Given the description of an element on the screen output the (x, y) to click on. 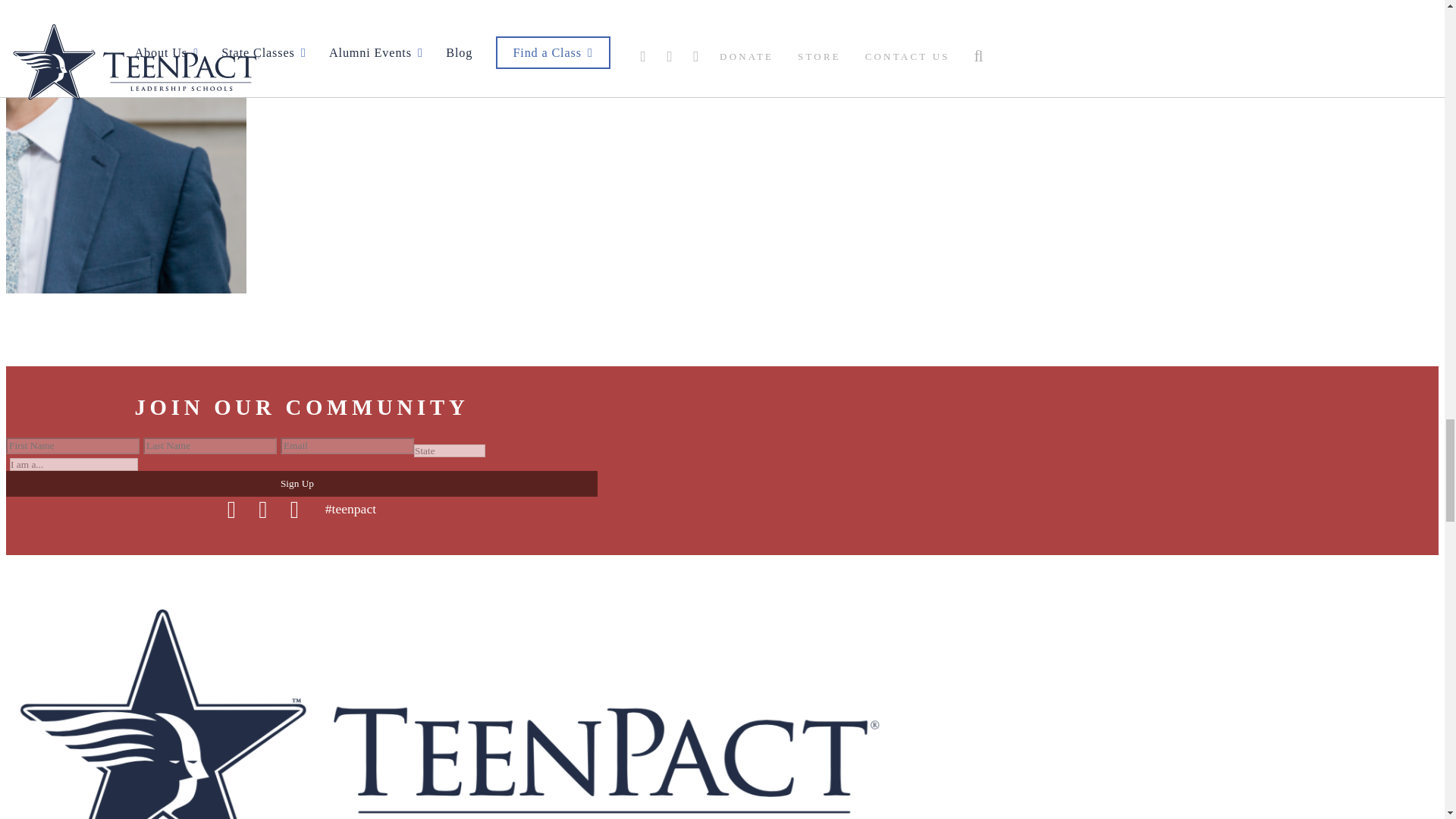
Instagram (263, 509)
YouTube (294, 509)
Facebook (231, 509)
Sign Up (300, 483)
